Given the description of an element on the screen output the (x, y) to click on. 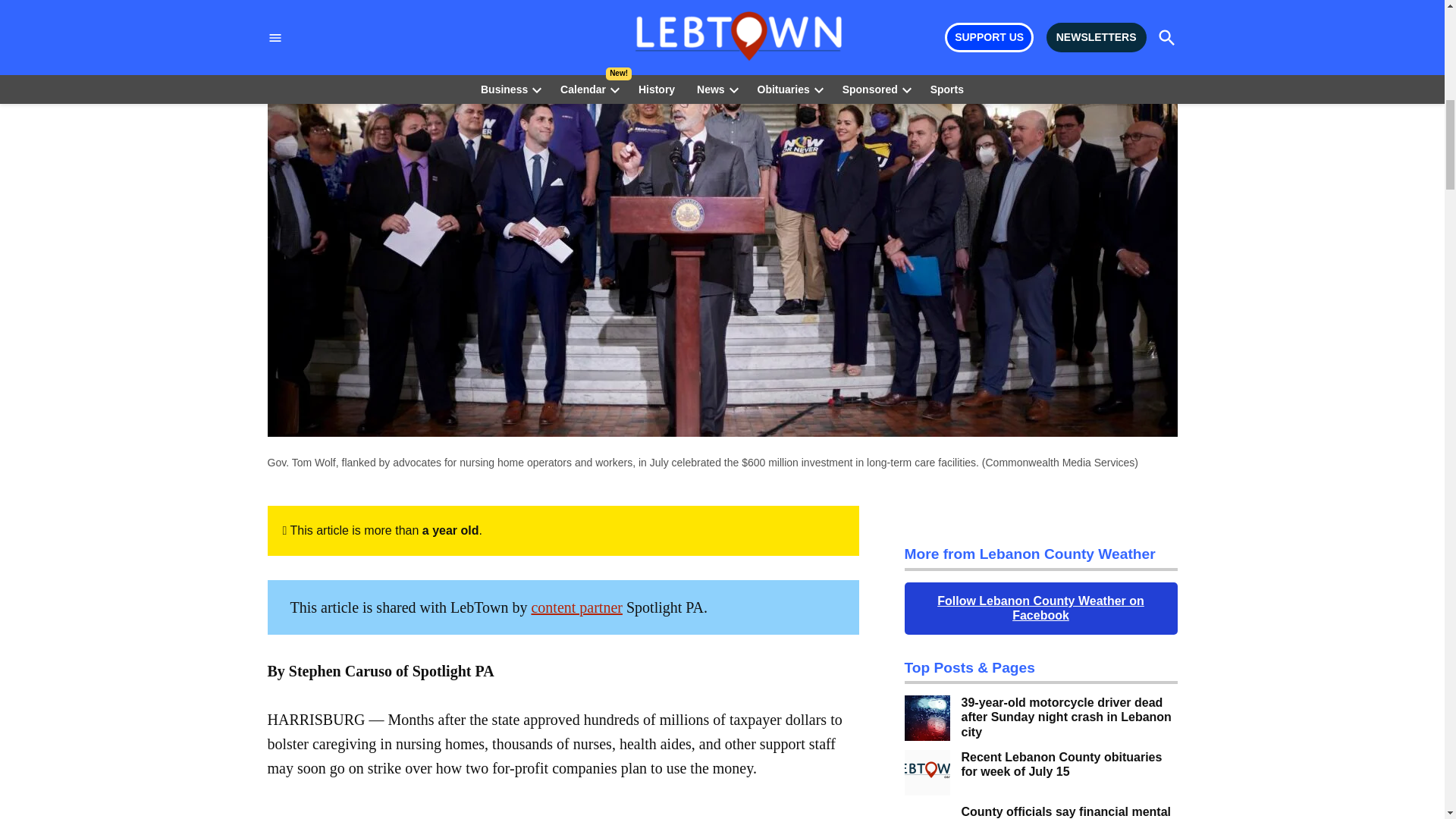
Recent Lebanon County obituaries for week of July 15 (1068, 764)
